Given the description of an element on the screen output the (x, y) to click on. 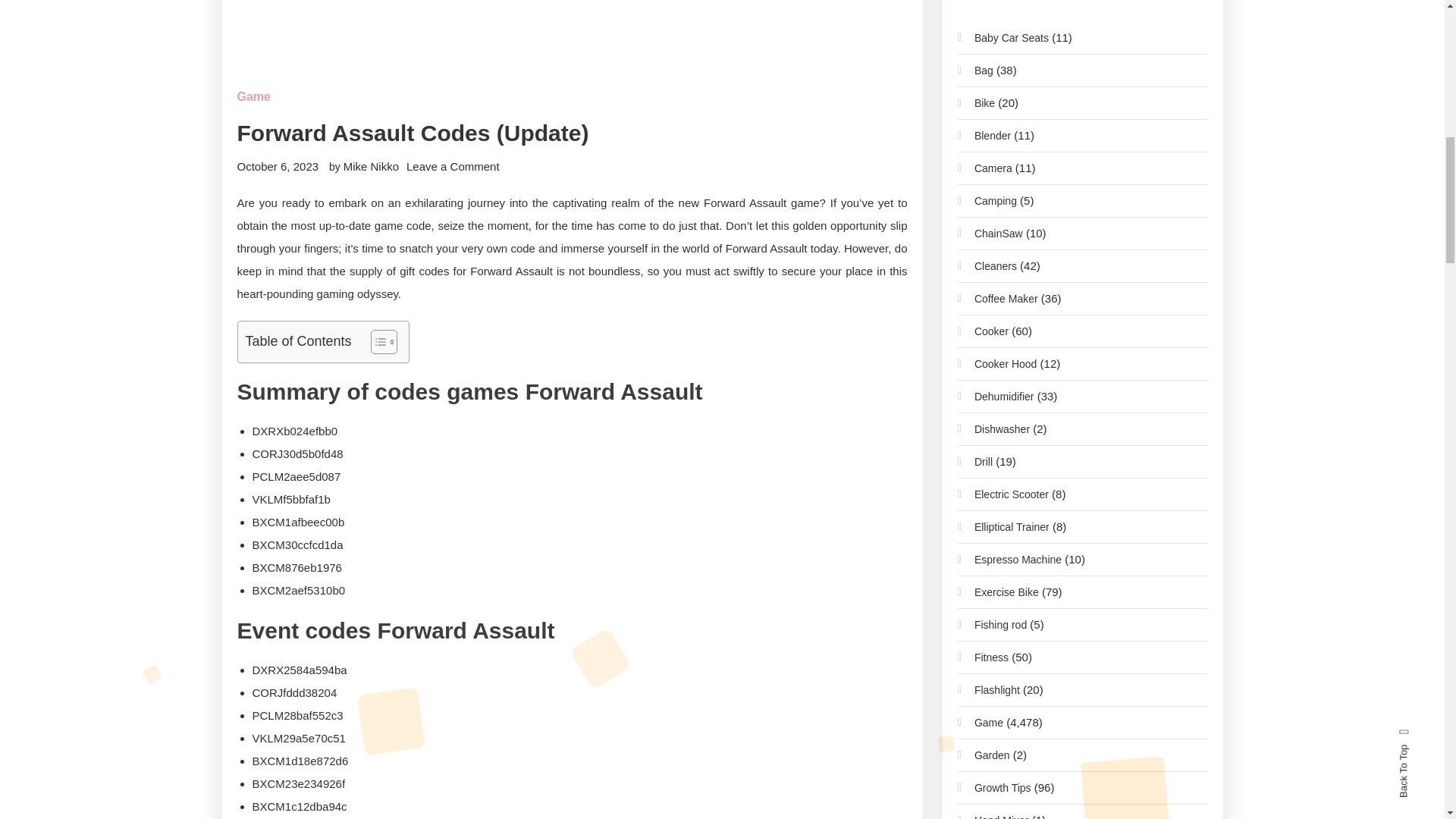
October 6, 2023 (276, 165)
Game (252, 97)
Mike Nikko (370, 165)
